Given the description of an element on the screen output the (x, y) to click on. 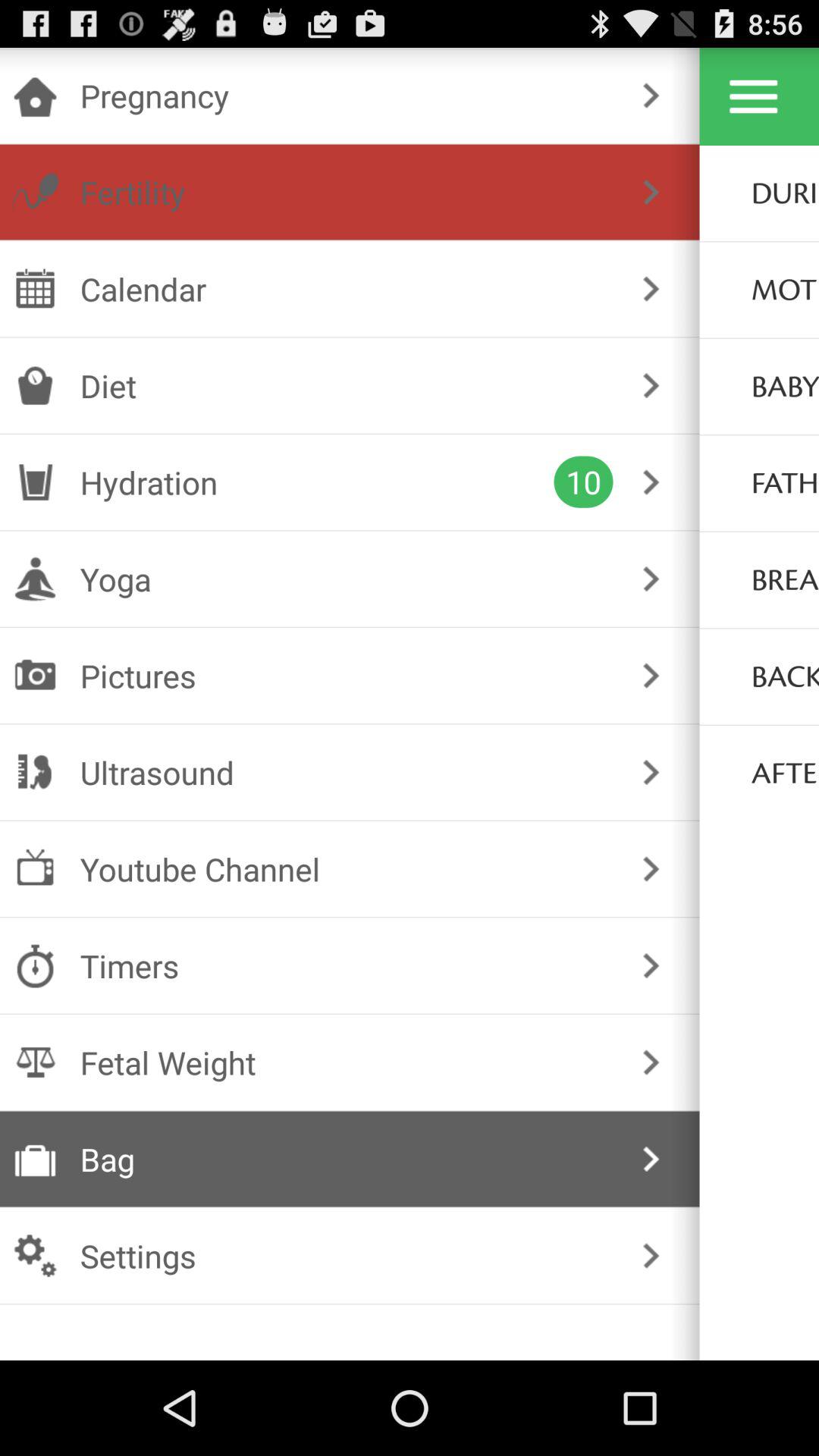
swipe to hydration (316, 481)
